Given the description of an element on the screen output the (x, y) to click on. 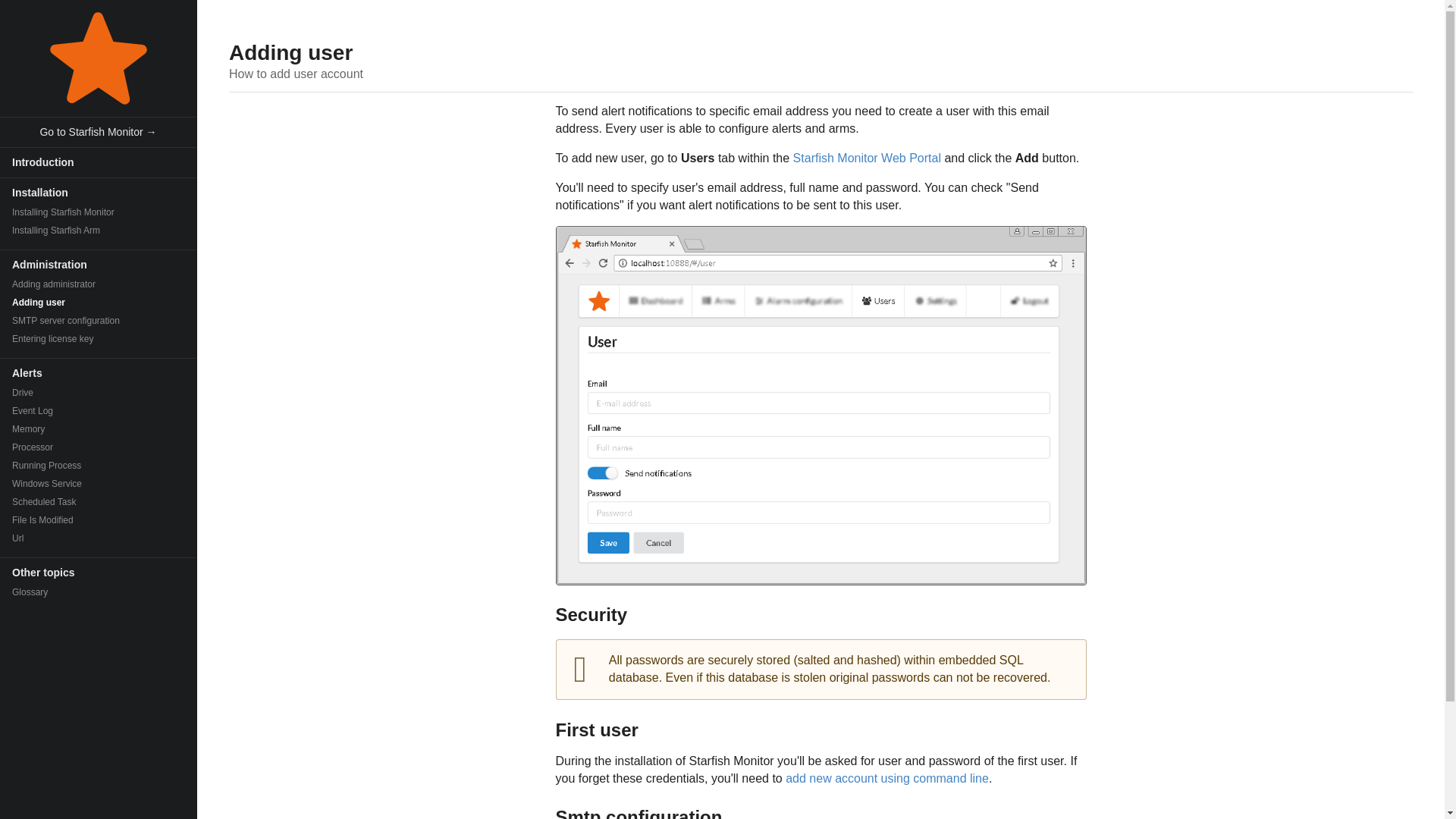
Memory (98, 429)
Adding user (98, 302)
Adding administrator (98, 284)
Event Log (98, 411)
add new account using command line (887, 778)
Drive (98, 393)
Url (98, 538)
Installing Starfish Arm (98, 230)
Windows Service (98, 484)
Entering license key (98, 339)
Starfish Monitor Web Portal (866, 157)
Running Process (98, 465)
Scheduled Task (98, 502)
Glossary (98, 592)
Installing Starfish Monitor (98, 212)
